Given the description of an element on the screen output the (x, y) to click on. 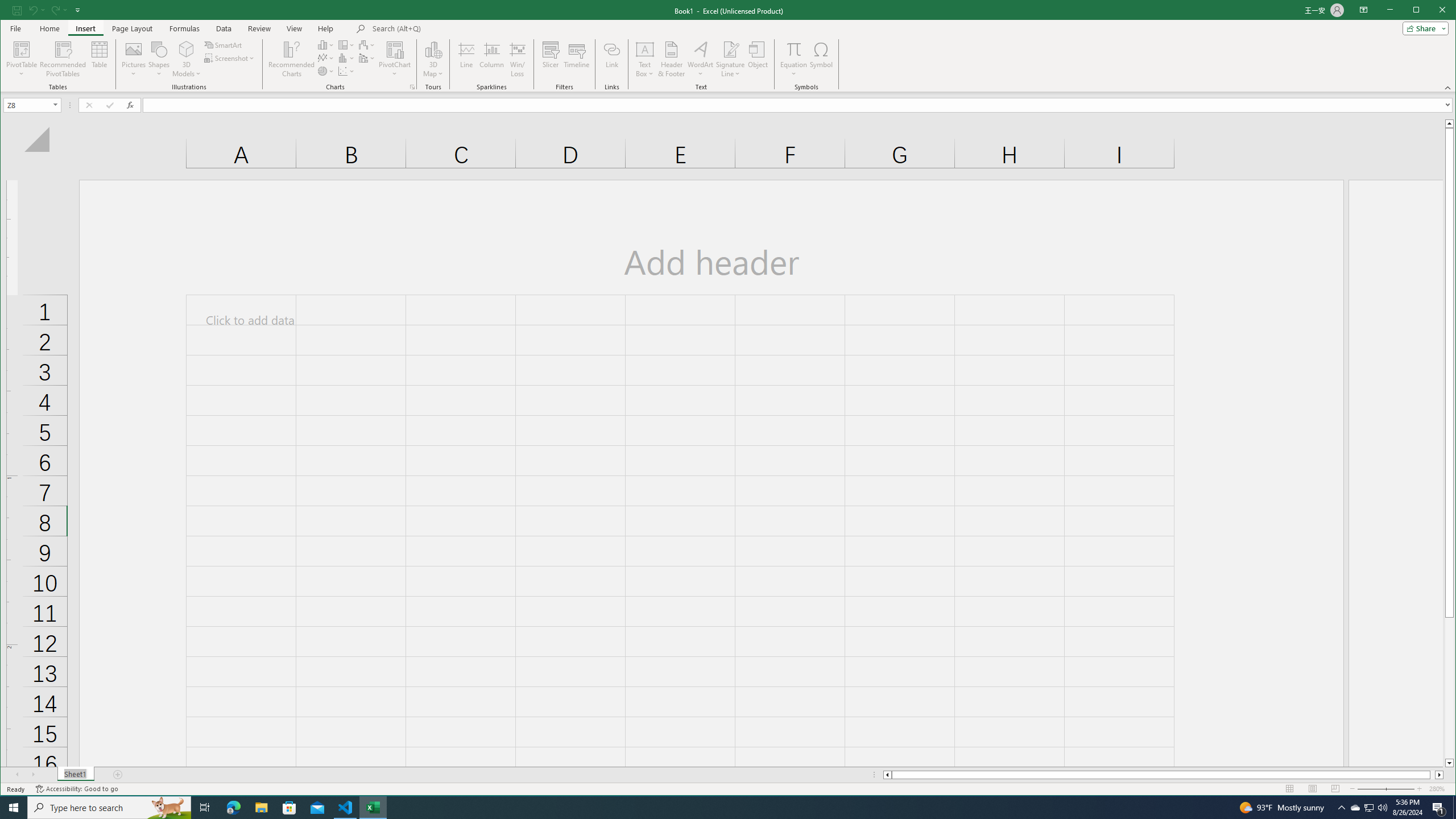
Column (492, 59)
Visual Studio Code - 1 running window (345, 807)
SmartArt... (224, 44)
Text Box (644, 59)
PivotTable (22, 59)
Equation (793, 59)
3D Map (432, 59)
Link (611, 59)
